Given the description of an element on the screen output the (x, y) to click on. 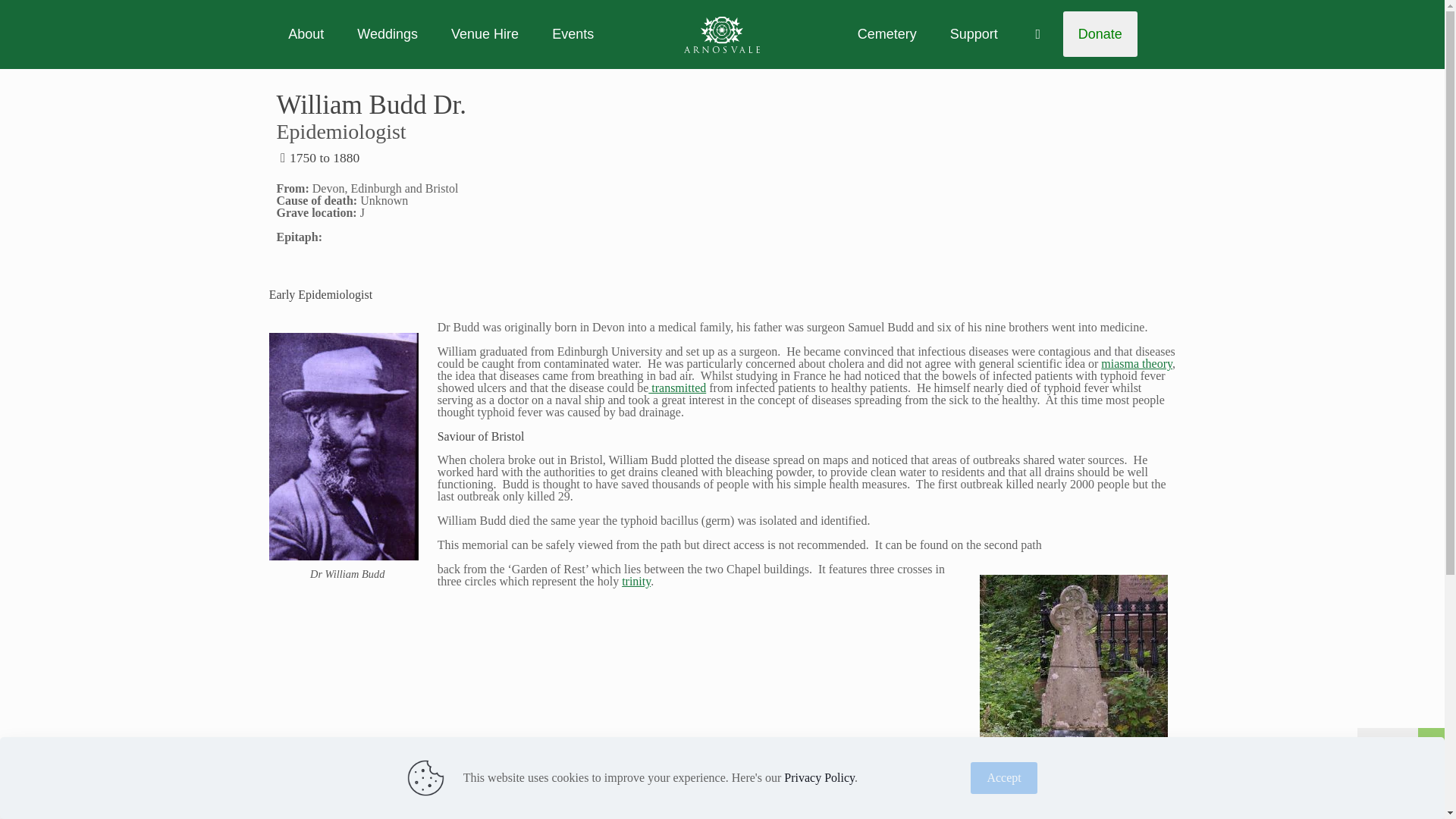
Events (572, 33)
About (306, 33)
Arnos Vale (721, 33)
Weddings (387, 33)
Venue Hire (484, 33)
Cemetery (887, 33)
